Given the description of an element on the screen output the (x, y) to click on. 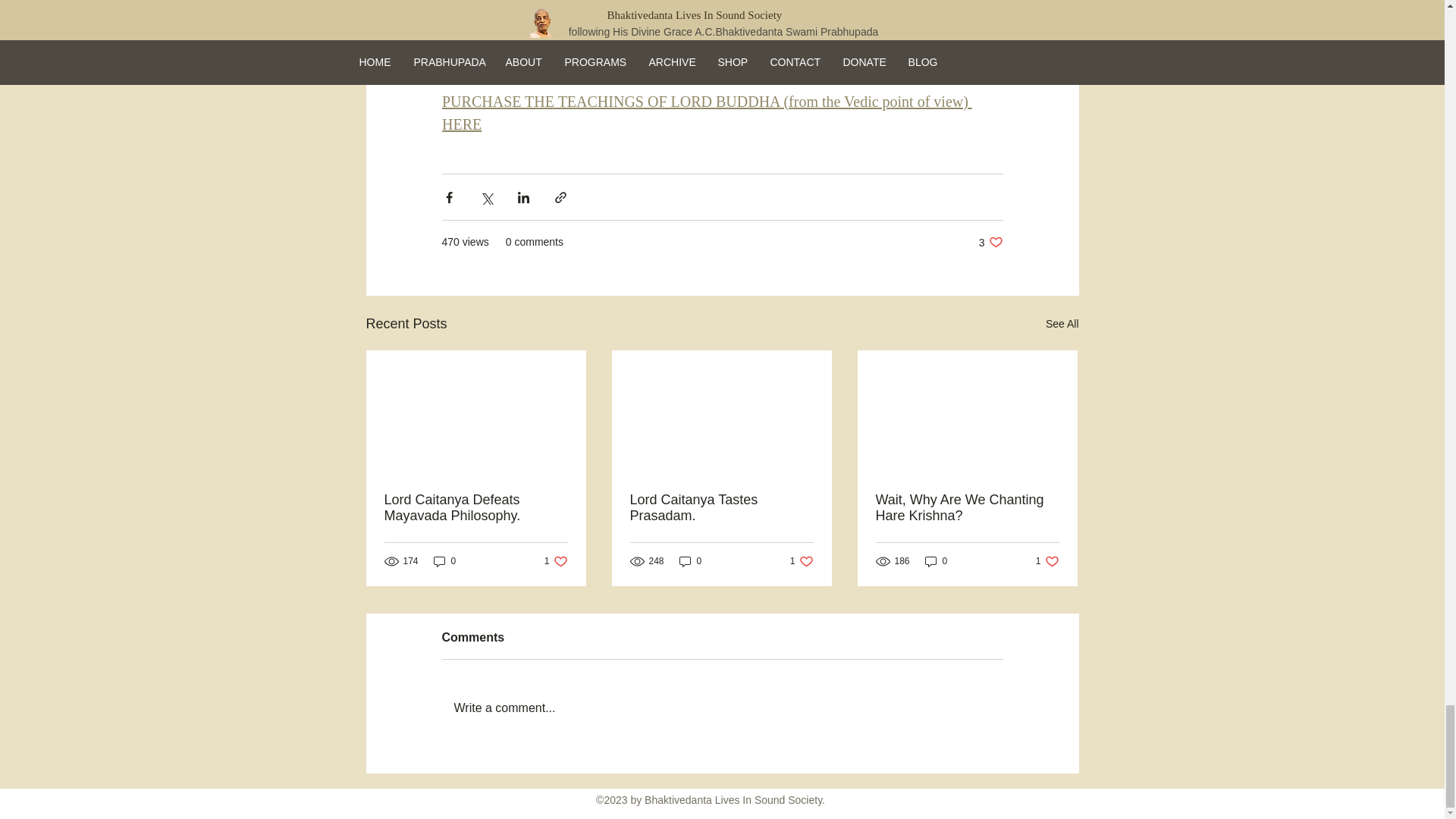
Wait, Why Are We Chanting Hare Krishna? (966, 508)
0 (990, 242)
Lord Caitanya Tastes Prasadam. (801, 561)
See All (445, 561)
Lord Caitanya Defeats Mayavada Philosophy. (720, 508)
0 (1061, 323)
